Given the description of an element on the screen output the (x, y) to click on. 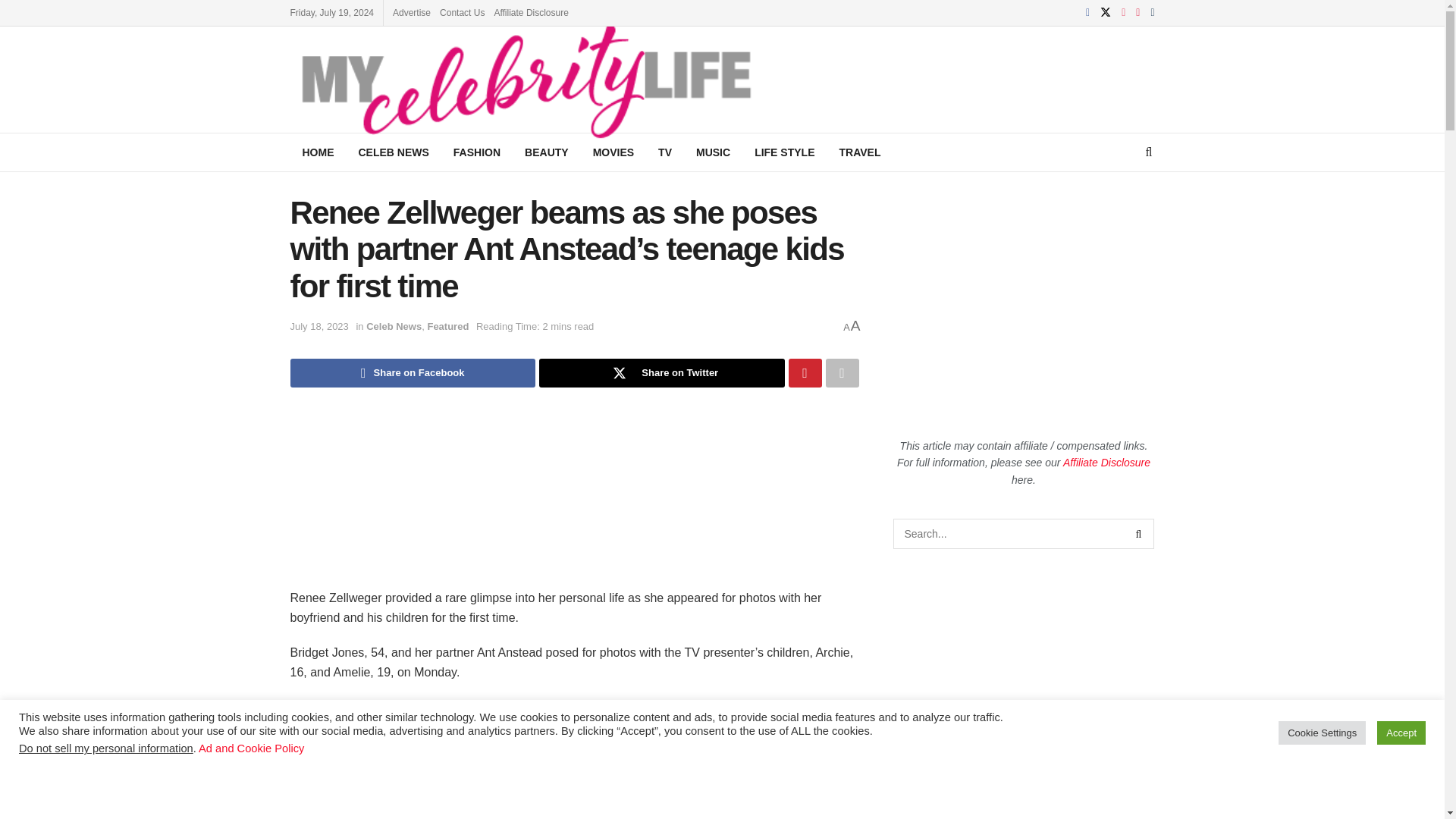
Advertisement (1056, 77)
MOVIES (613, 152)
TV (665, 152)
Affiliate Disclosure (530, 12)
CELEB NEWS (393, 152)
Advertisement (1023, 300)
TRAVEL (859, 152)
BEAUTY (546, 152)
July 18, 2023 (318, 326)
Advertise (411, 12)
Celeb News (394, 326)
FASHION (476, 152)
Featured (447, 326)
Advertisement (574, 785)
HOME (317, 152)
